Given the description of an element on the screen output the (x, y) to click on. 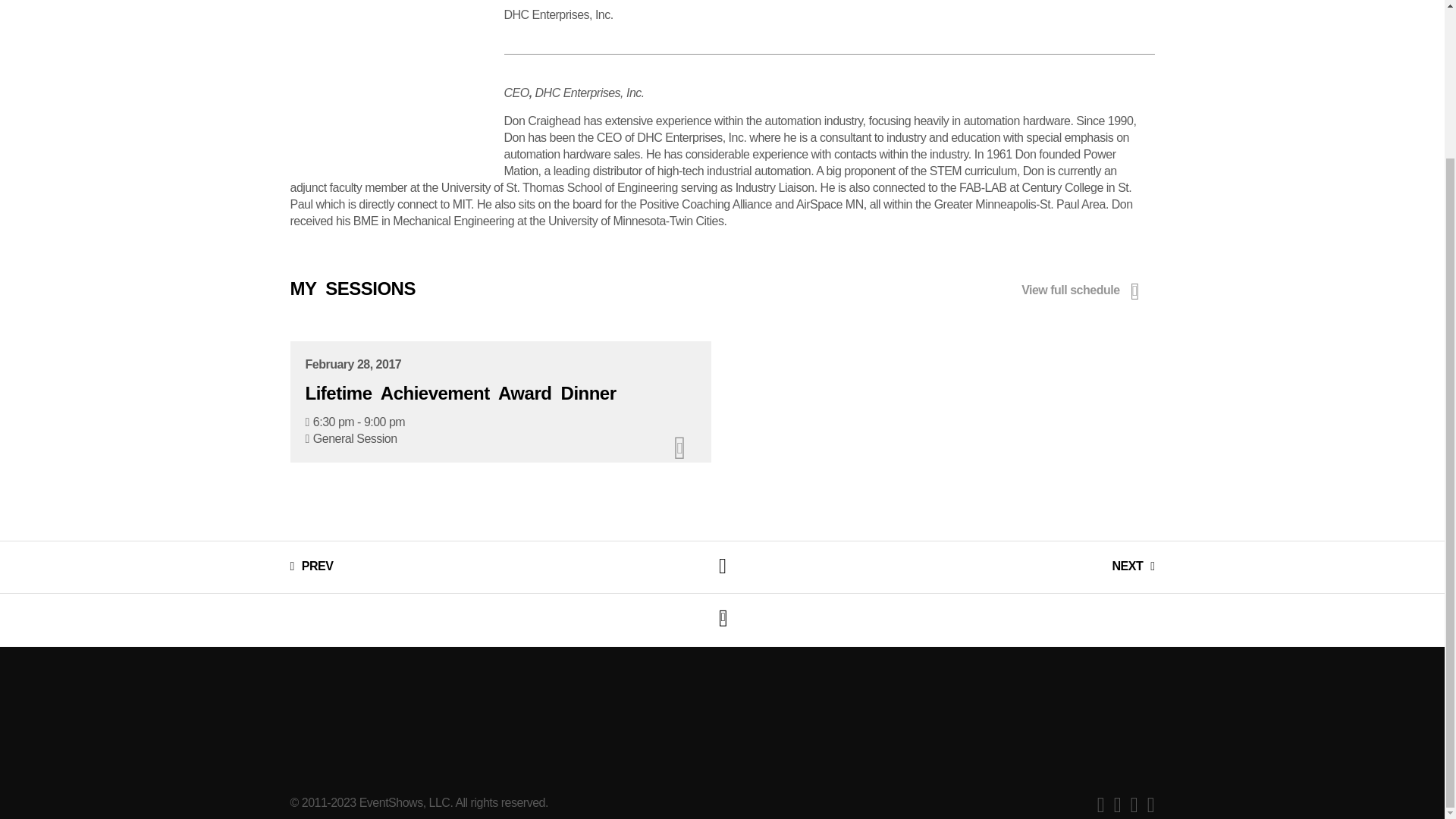
Lifetime Achievement Award Dinner (459, 393)
NEXT (1133, 565)
PREV (311, 565)
View full schedule (1084, 291)
Don Craighead (388, 80)
